Given the description of an element on the screen output the (x, y) to click on. 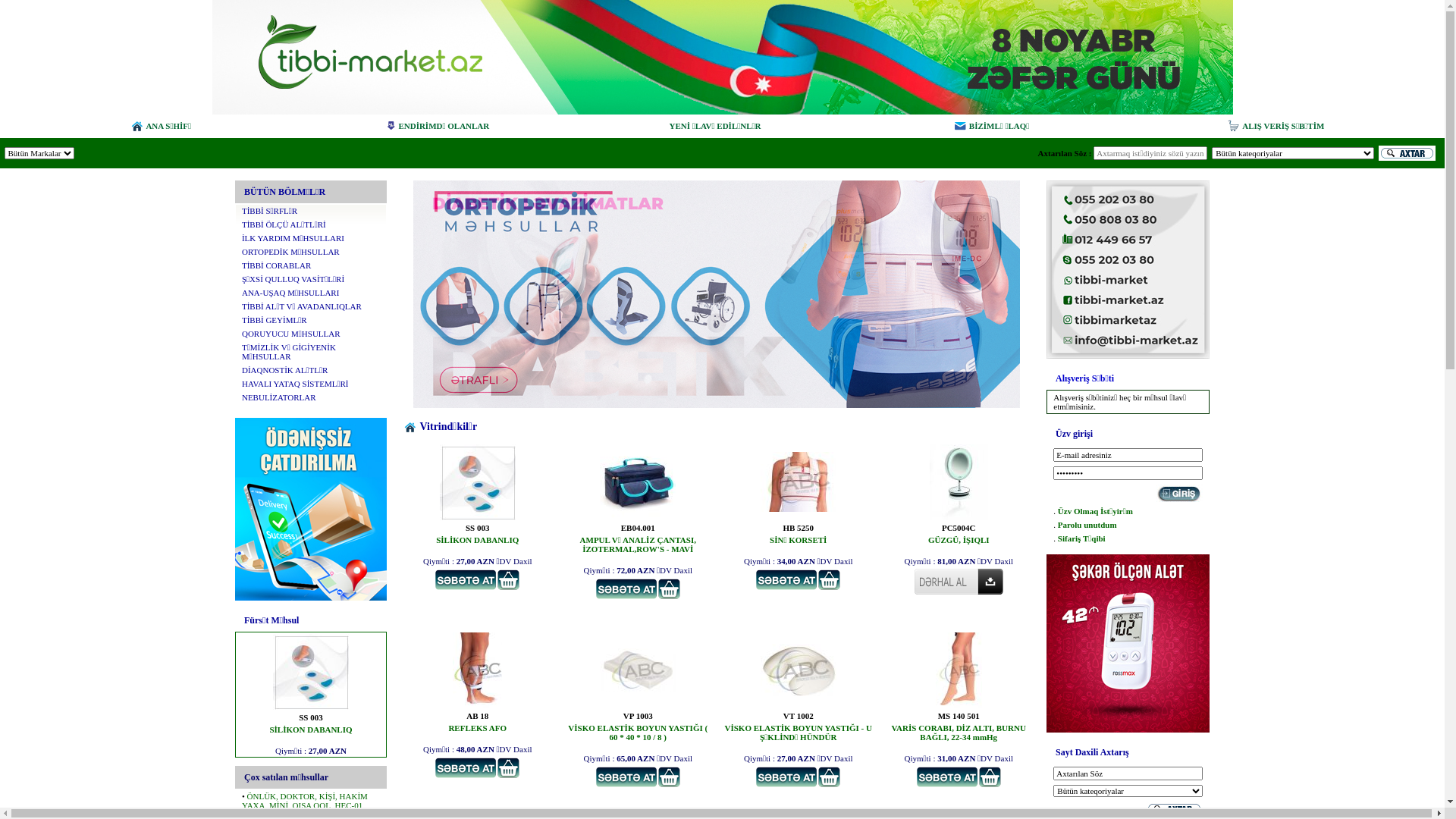
REFLEKS AFO Element type: text (477, 727)
REFLEKS AFO Element type: hover (477, 704)
Parolu unutdum Element type: text (1087, 524)
